Given the description of an element on the screen output the (x, y) to click on. 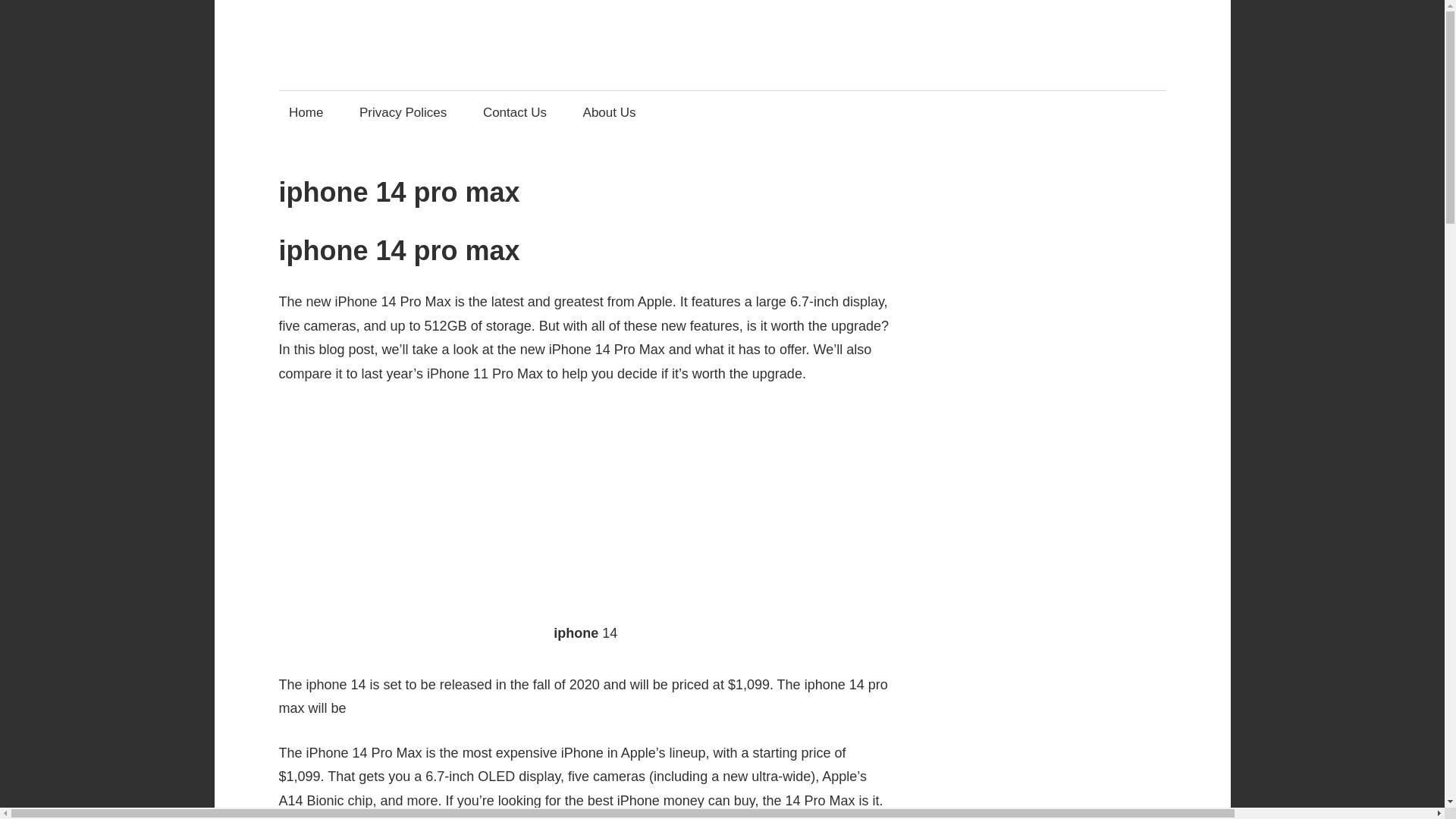
Home (306, 112)
About Us (609, 112)
Privacy Polices (403, 112)
Contact Us (513, 112)
